Given the description of an element on the screen output the (x, y) to click on. 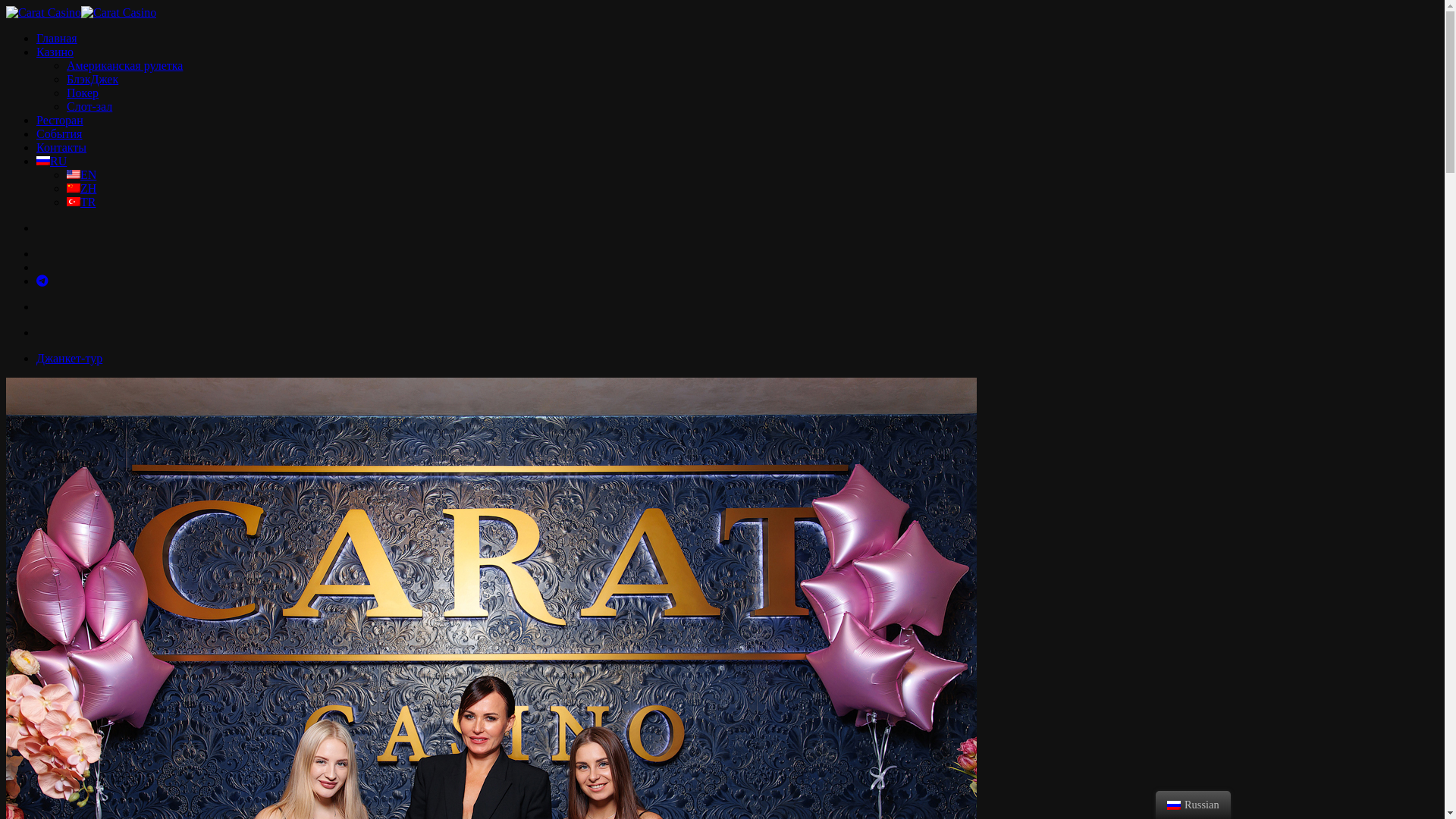
Chinese Element type: hover (73, 187)
Russian Element type: hover (1173, 804)
EN Element type: text (81, 174)
Turkish Element type: hover (73, 201)
Russian Element type: hover (43, 160)
TR Element type: text (80, 201)
ZH Element type: text (81, 188)
English Element type: hover (73, 173)
RU Element type: text (51, 160)
